Given the description of an element on the screen output the (x, y) to click on. 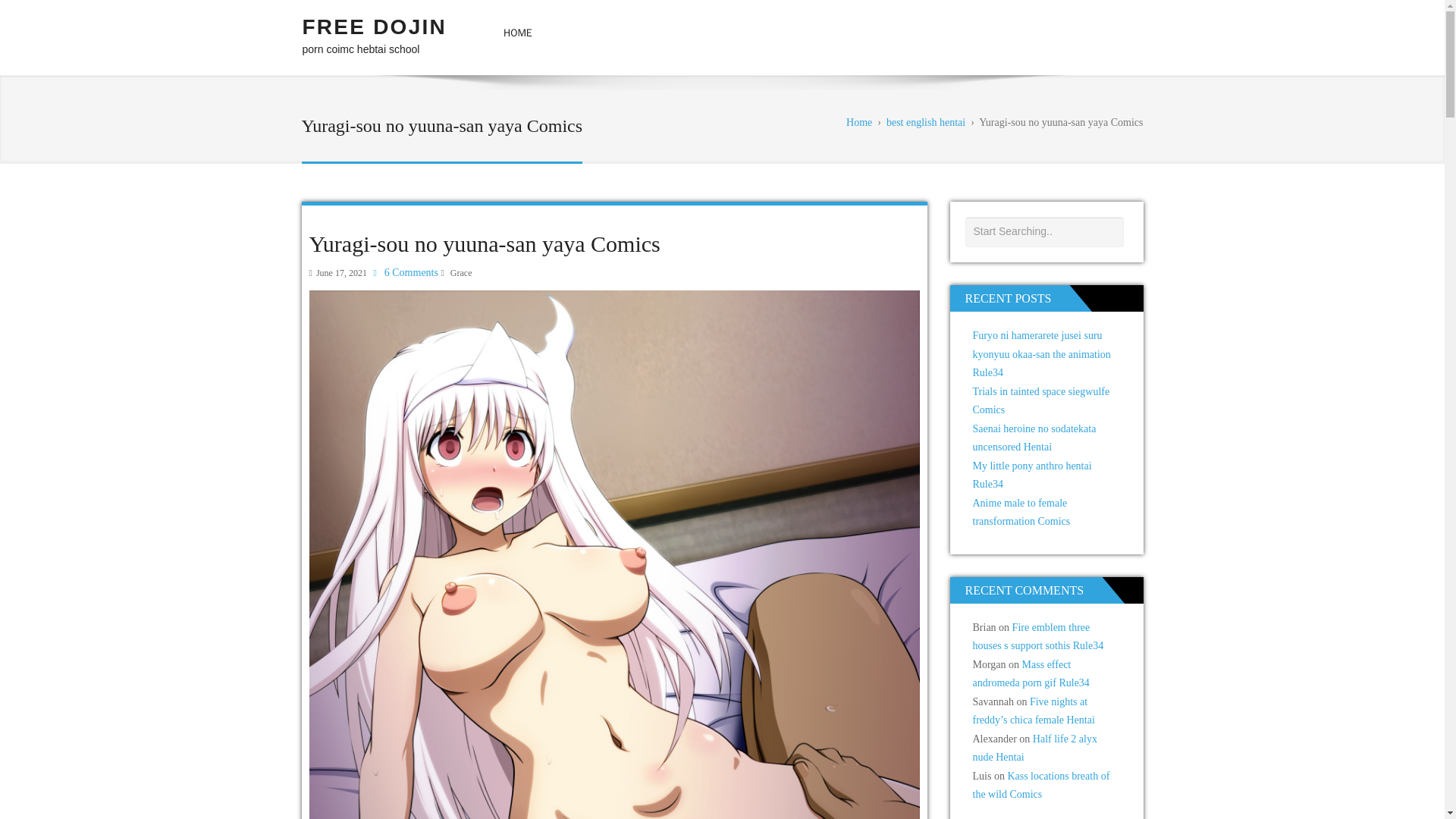
Trials in tainted space siegwulfe Comics (1040, 400)
My little pony anthro hentai Rule34 (1031, 475)
Kass locations breath of the wild Comics (1040, 785)
best english hentai (925, 122)
FREE DOJIN (373, 26)
Yuragi-sou no yuuna-san yaya Comics (484, 243)
Saenai heroine no sodatekata uncensored Hentai (1034, 438)
June 17, 2021 (340, 272)
HOME (517, 32)
Home (517, 32)
Fire emblem three houses s support sothis Rule34 (1037, 636)
Mass effect andromeda porn gif Rule34 (1030, 674)
Half life 2 alyx nude Hentai (1034, 748)
Home (858, 122)
